Given the description of an element on the screen output the (x, y) to click on. 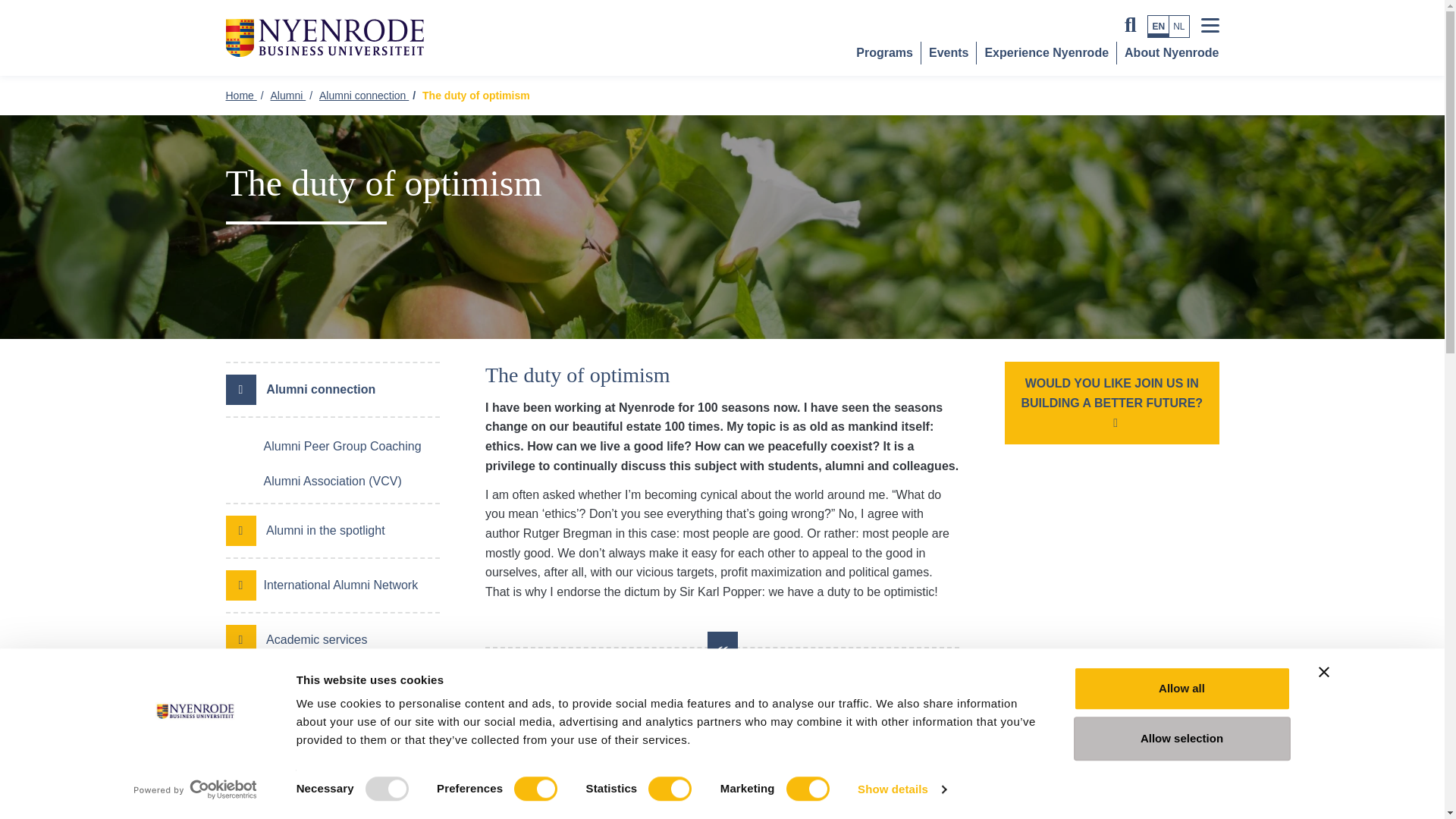
Show details (900, 789)
